Given the description of an element on the screen output the (x, y) to click on. 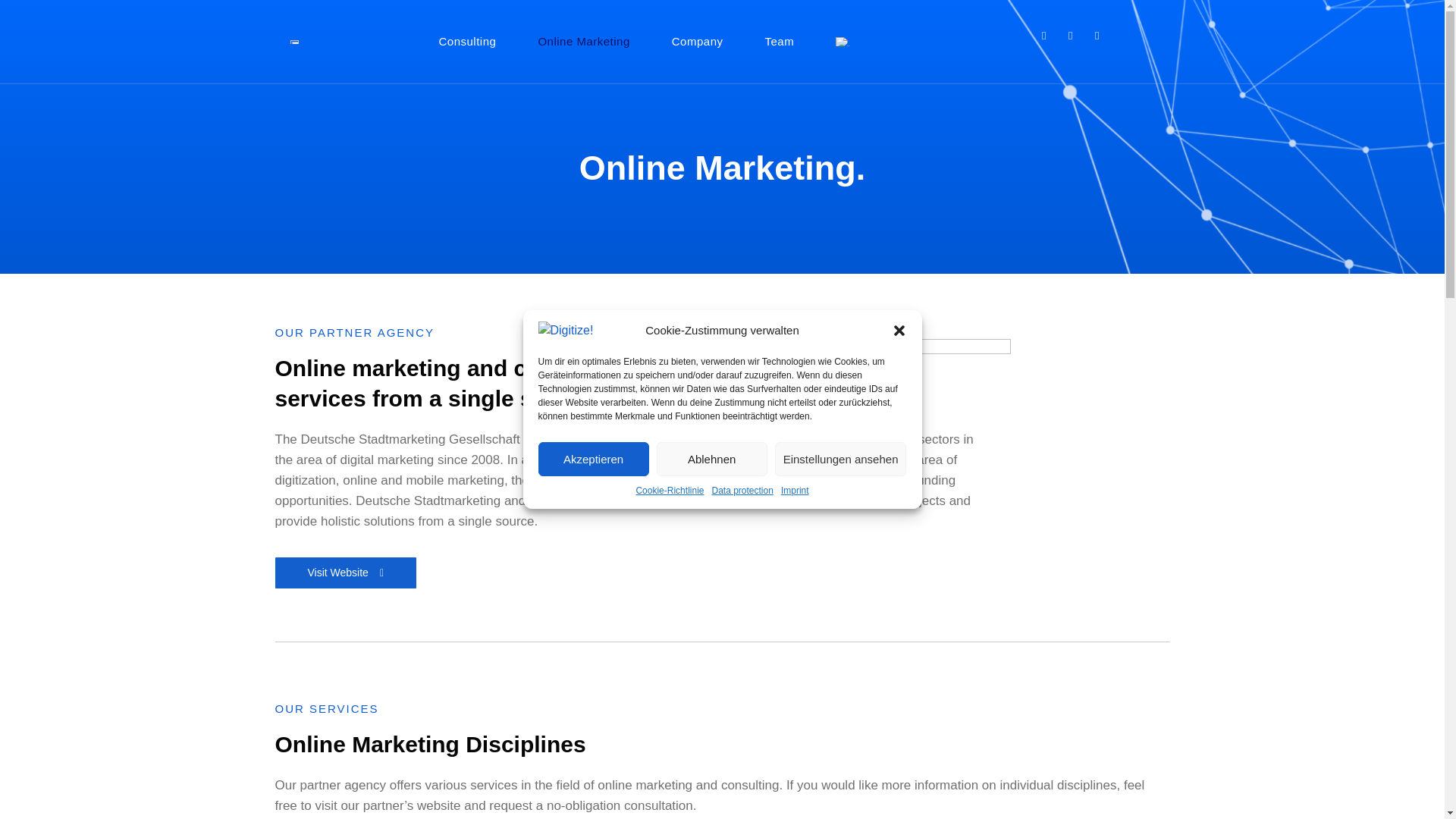
Online Marketing (583, 41)
Akzeptieren (593, 458)
Team (778, 41)
Einstellungen ansehen (840, 458)
Imprint (794, 490)
Ablehnen (711, 458)
Cookie-Richtlinie (668, 490)
Company (697, 41)
Data protection (742, 490)
Consulting (467, 41)
